Given the description of an element on the screen output the (x, y) to click on. 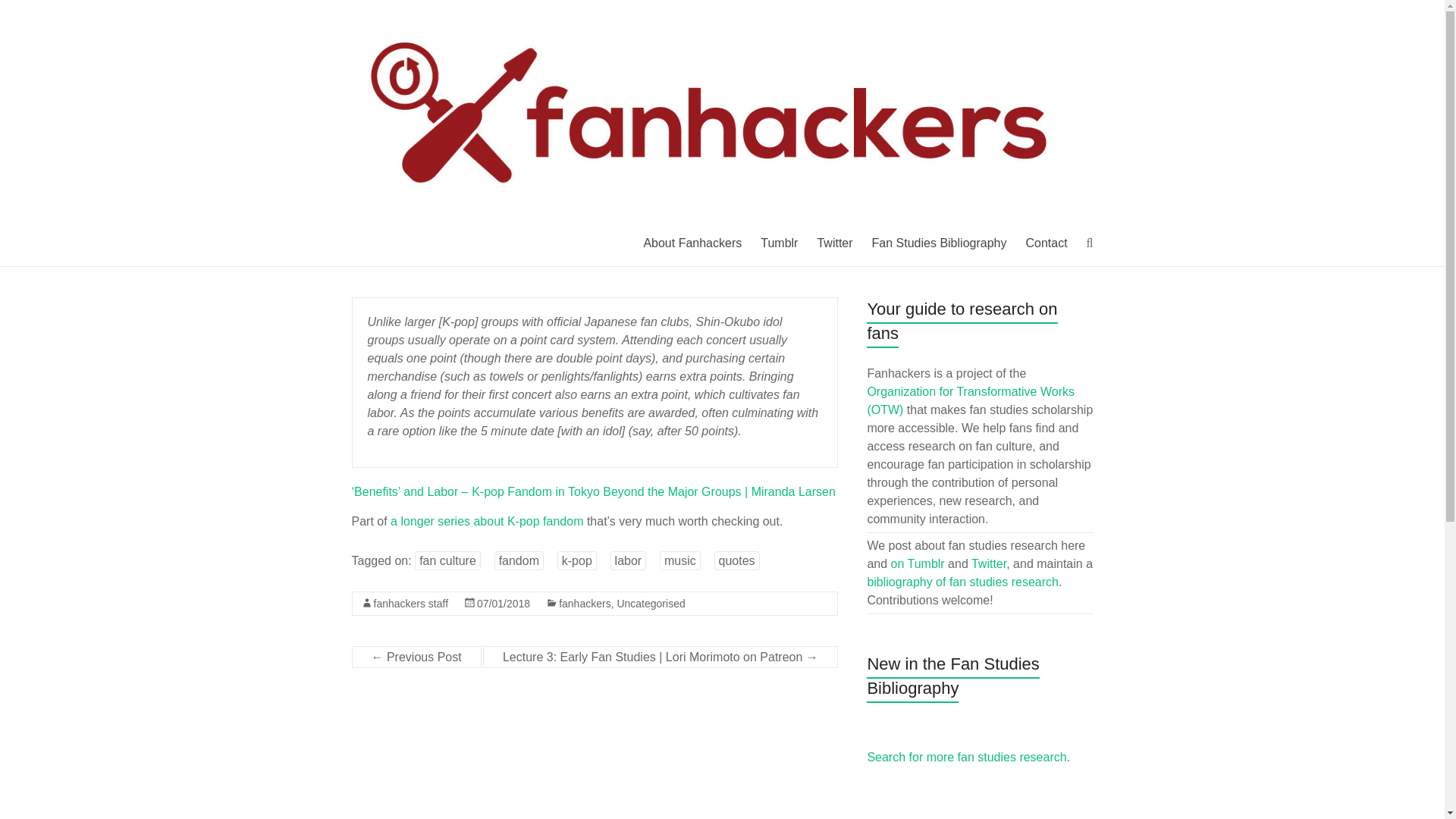
fandom (519, 560)
Contact (1046, 242)
Uncategorised (649, 603)
music (679, 560)
labor (628, 560)
on Tumblr (917, 563)
Search for more fan studies research (965, 757)
Fanhackers (421, 30)
fanhackers staff (410, 603)
Twitter (833, 242)
fanhackers (584, 603)
quotes (737, 560)
k-pop (576, 560)
Tumblr (778, 242)
bibliography of fan studies research (962, 581)
